Given the description of an element on the screen output the (x, y) to click on. 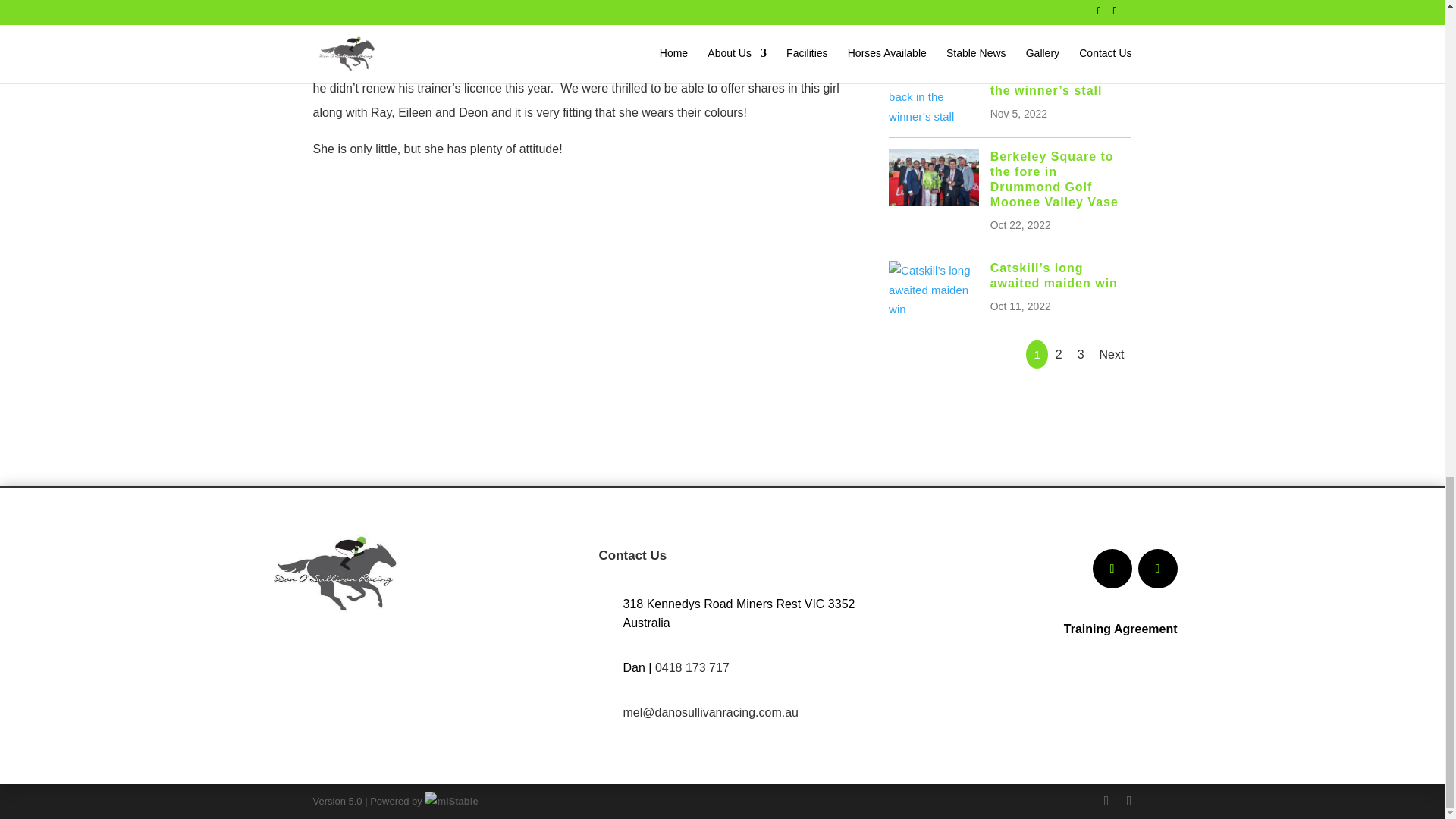
Follow on Facebook (1111, 568)
Next (1112, 354)
Follow on X (1156, 568)
Horse Management Software (451, 800)
0418 173 717 (692, 667)
